Given the description of an element on the screen output the (x, y) to click on. 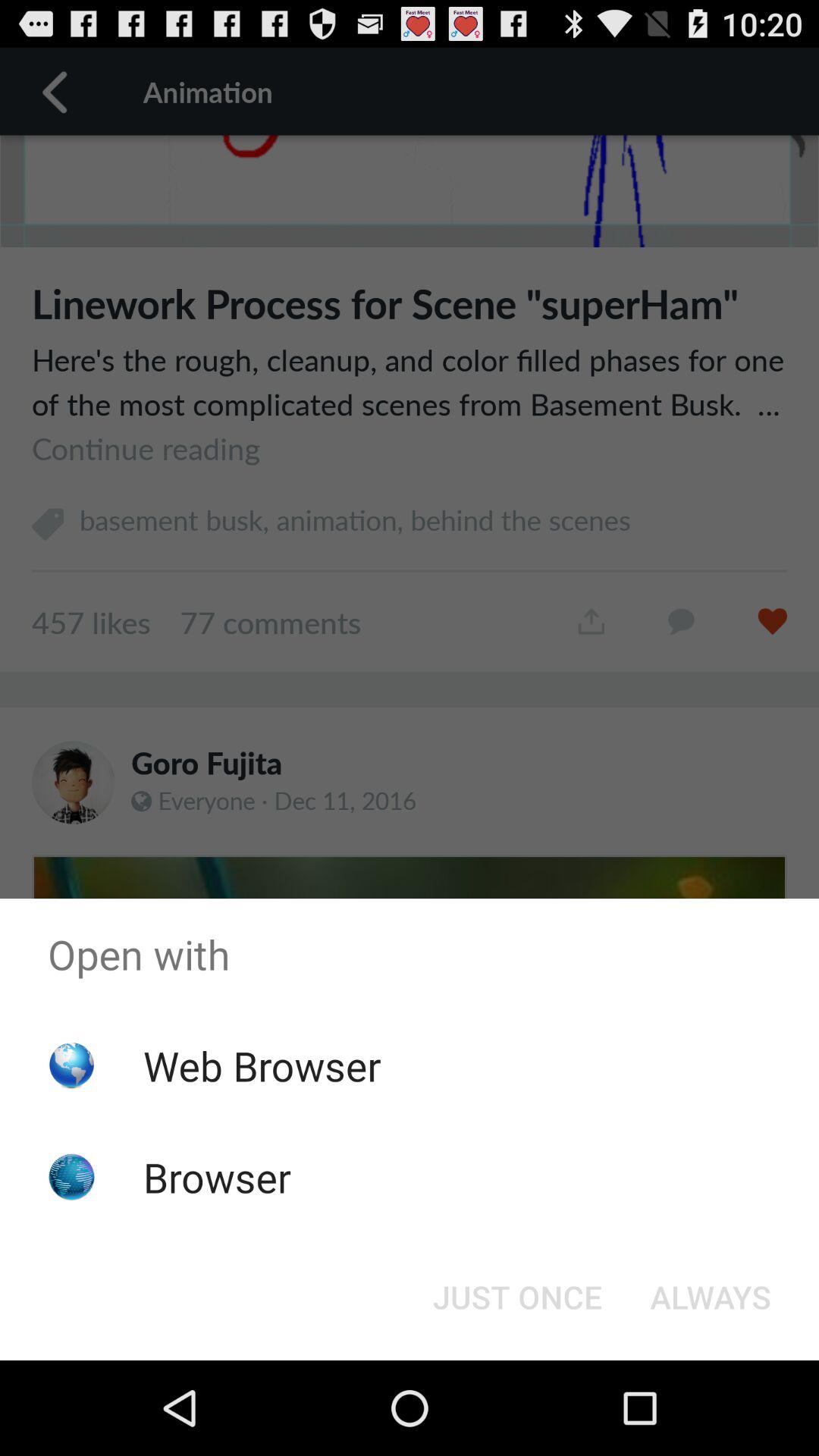
turn off just once item (517, 1296)
